Given the description of an element on the screen output the (x, y) to click on. 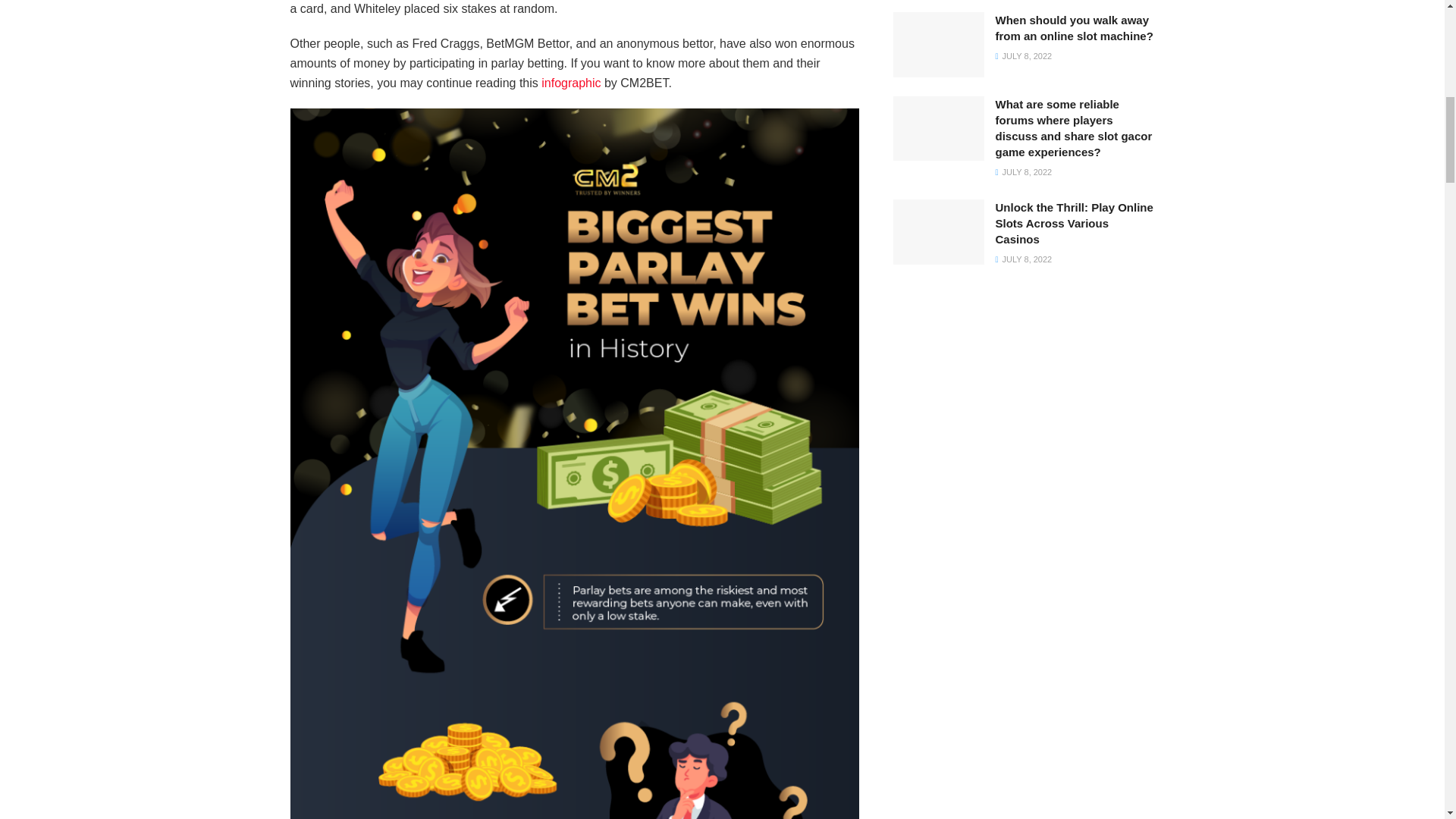
infographic (570, 82)
